Given the description of an element on the screen output the (x, y) to click on. 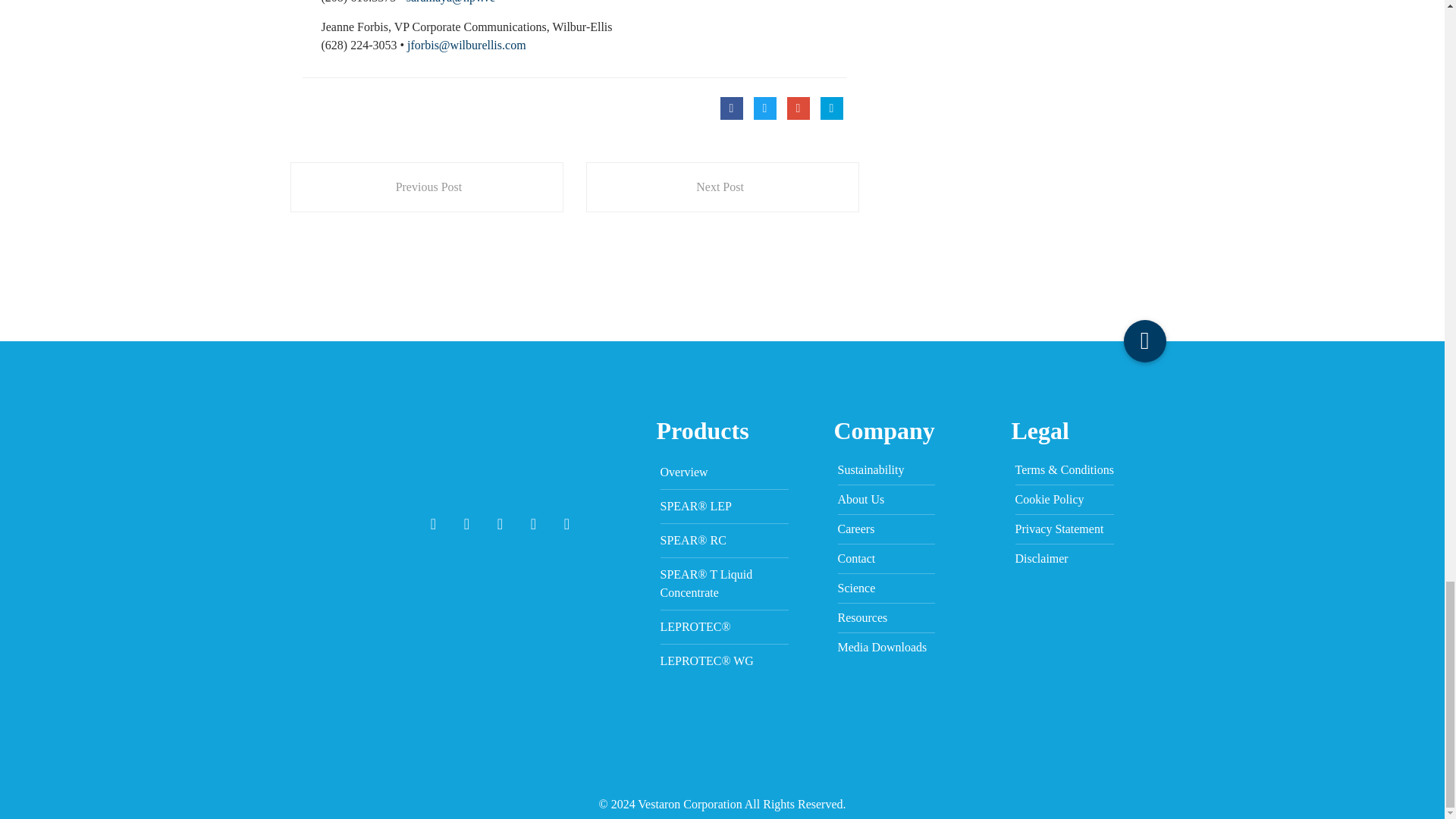
Share on Twitter! (765, 108)
Youtube (499, 523)
Share on Linkedin! (832, 108)
facebook (433, 523)
instagram (566, 523)
linkedIn (533, 523)
twitter (466, 523)
Share on Facebook! (731, 108)
